Given the description of an element on the screen output the (x, y) to click on. 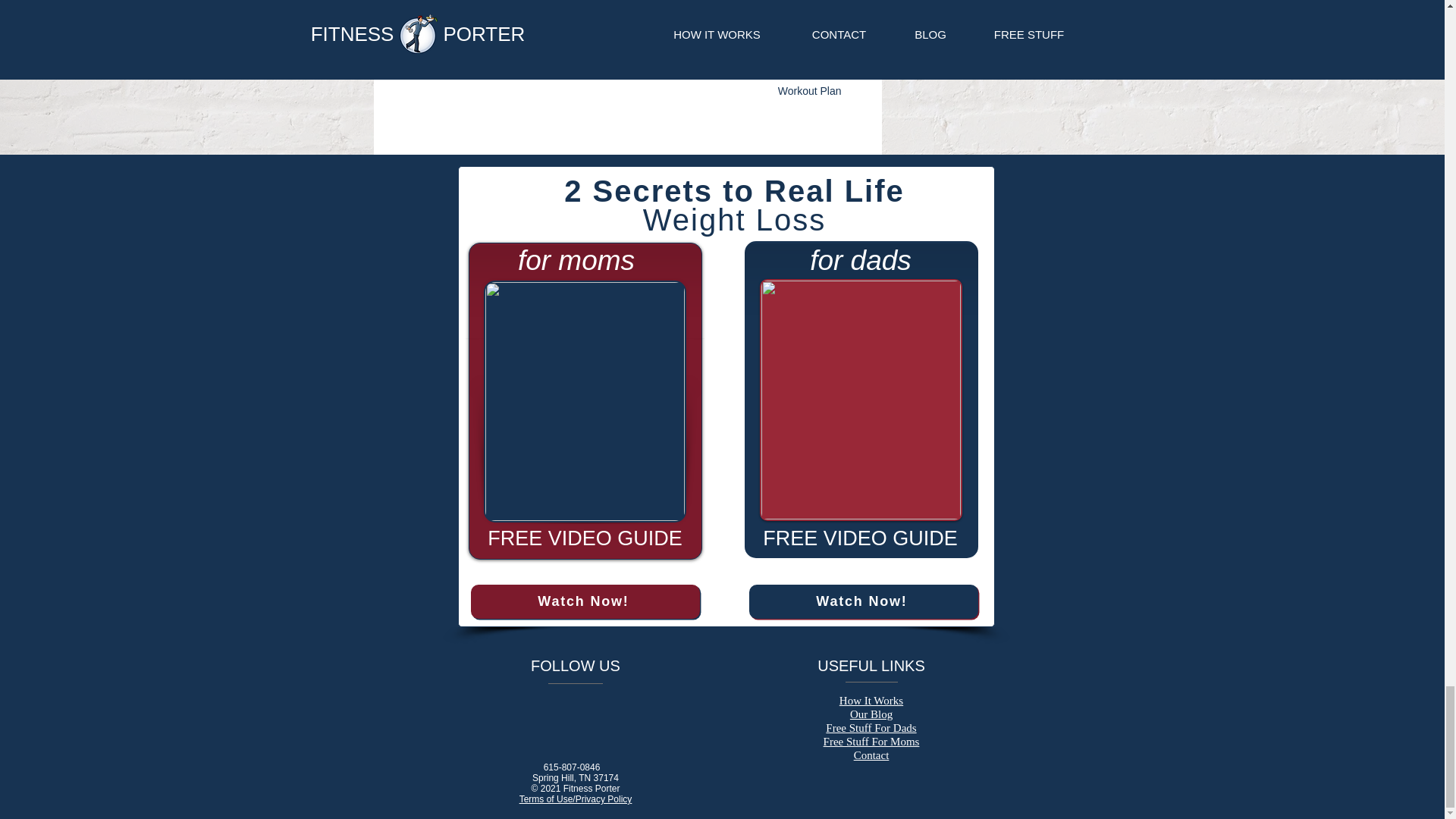
Watch Now! (863, 601)
Watch Now! (584, 601)
Workout Plan (809, 91)
